Given the description of an element on the screen output the (x, y) to click on. 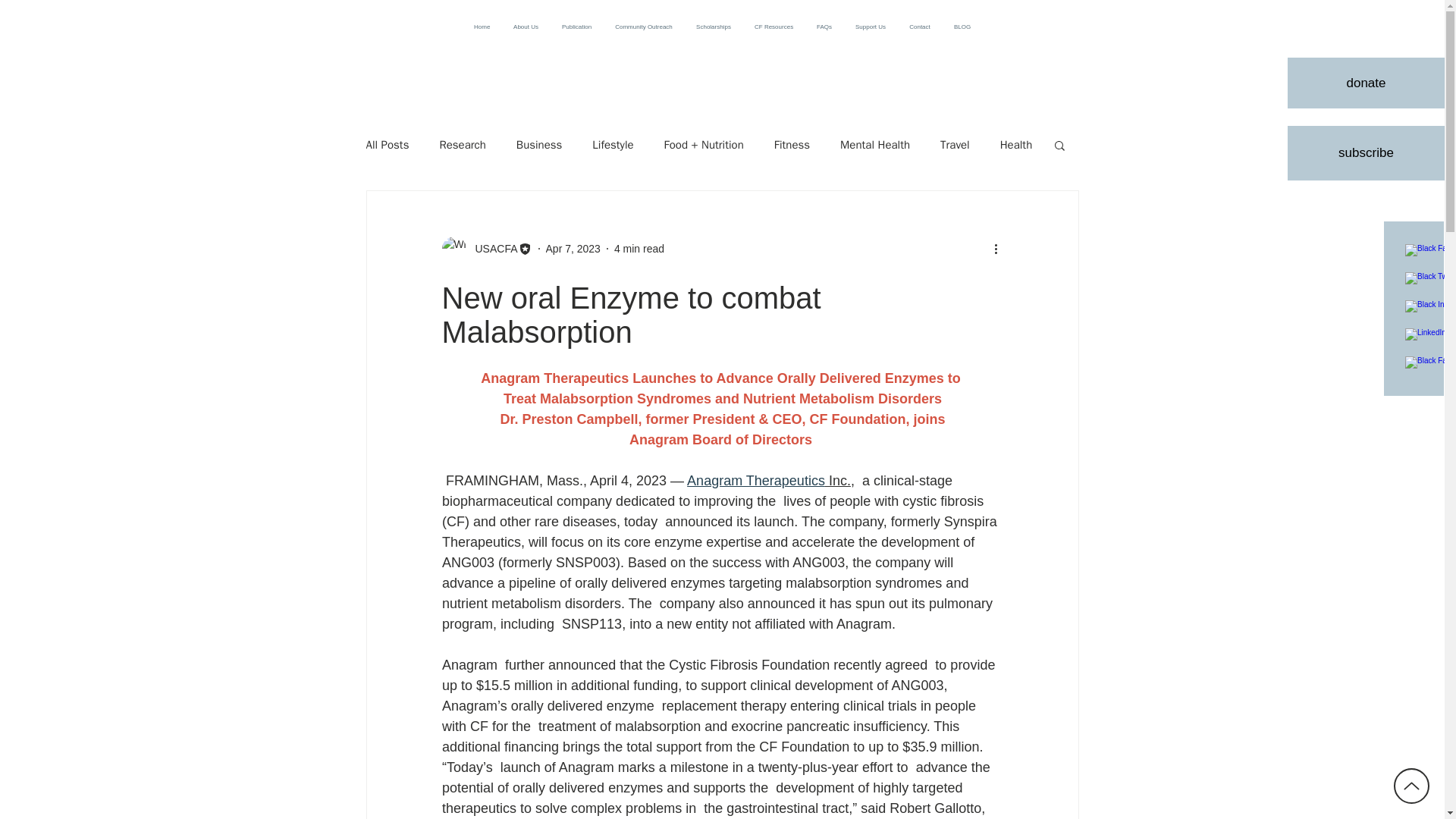
About Us (526, 26)
USACFA (490, 248)
Travel (954, 145)
Contact (920, 26)
Publication (576, 26)
Mental Health (875, 145)
Anagram Therapeutics (756, 480)
Apr 7, 2023 (572, 248)
Home (481, 26)
BLOG (961, 26)
